Given the description of an element on the screen output the (x, y) to click on. 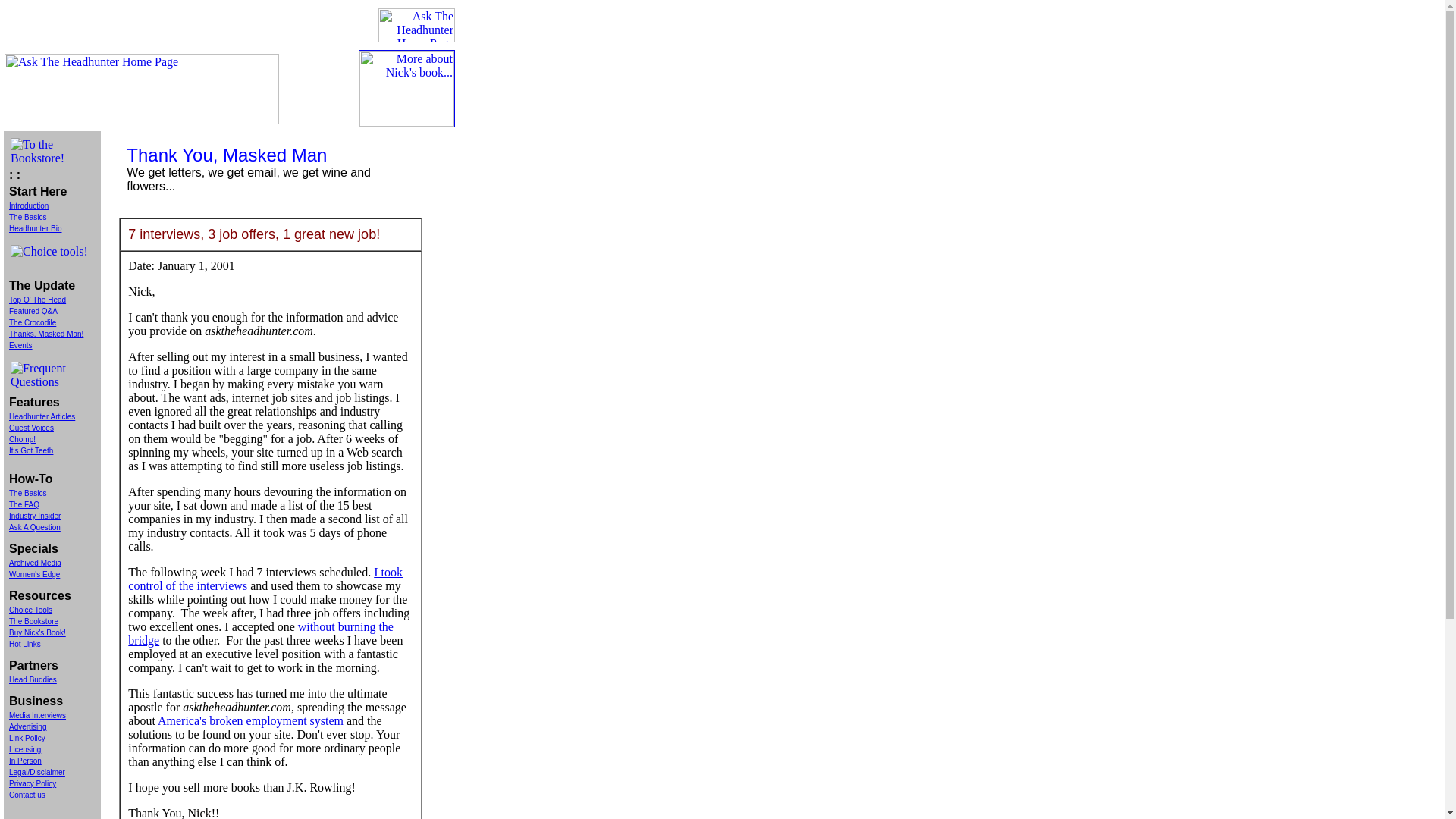
Buy Nick's Book! (36, 632)
Head Buddies (32, 677)
It's Got Teeth (30, 450)
Thanks, Masked Man! (45, 334)
Privacy Policy (32, 783)
Headhunter Articles (41, 416)
The Basics (27, 216)
Archived Media (34, 562)
Link Policy (26, 737)
Guest Voices (30, 428)
I took control of the interviews (265, 578)
The Crocodile (32, 322)
Chomp! (21, 438)
Introduction (28, 204)
Top O' The Head (36, 299)
